Given the description of an element on the screen output the (x, y) to click on. 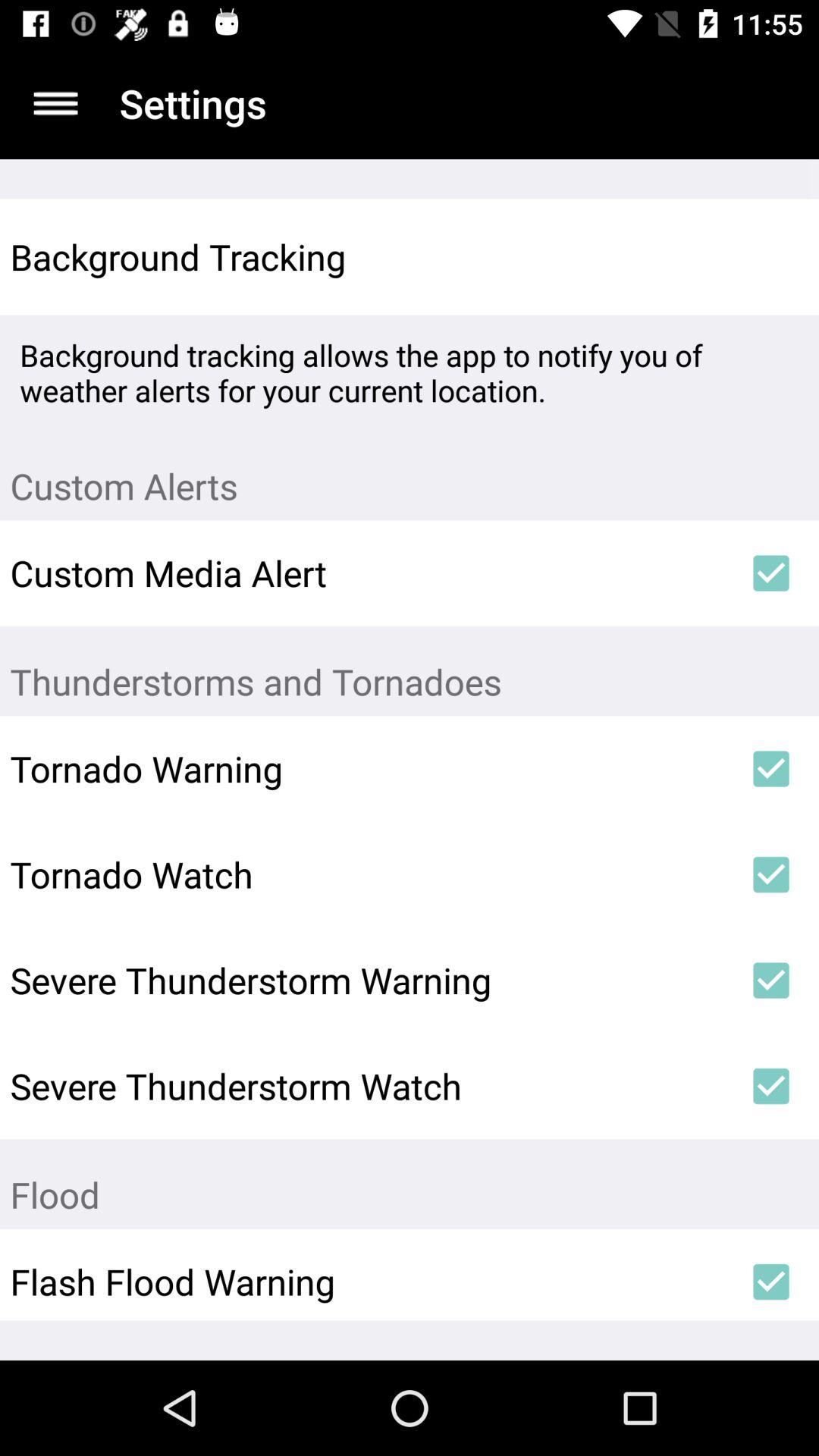
click the icon to the right of tornado watch icon (771, 874)
